Given the description of an element on the screen output the (x, y) to click on. 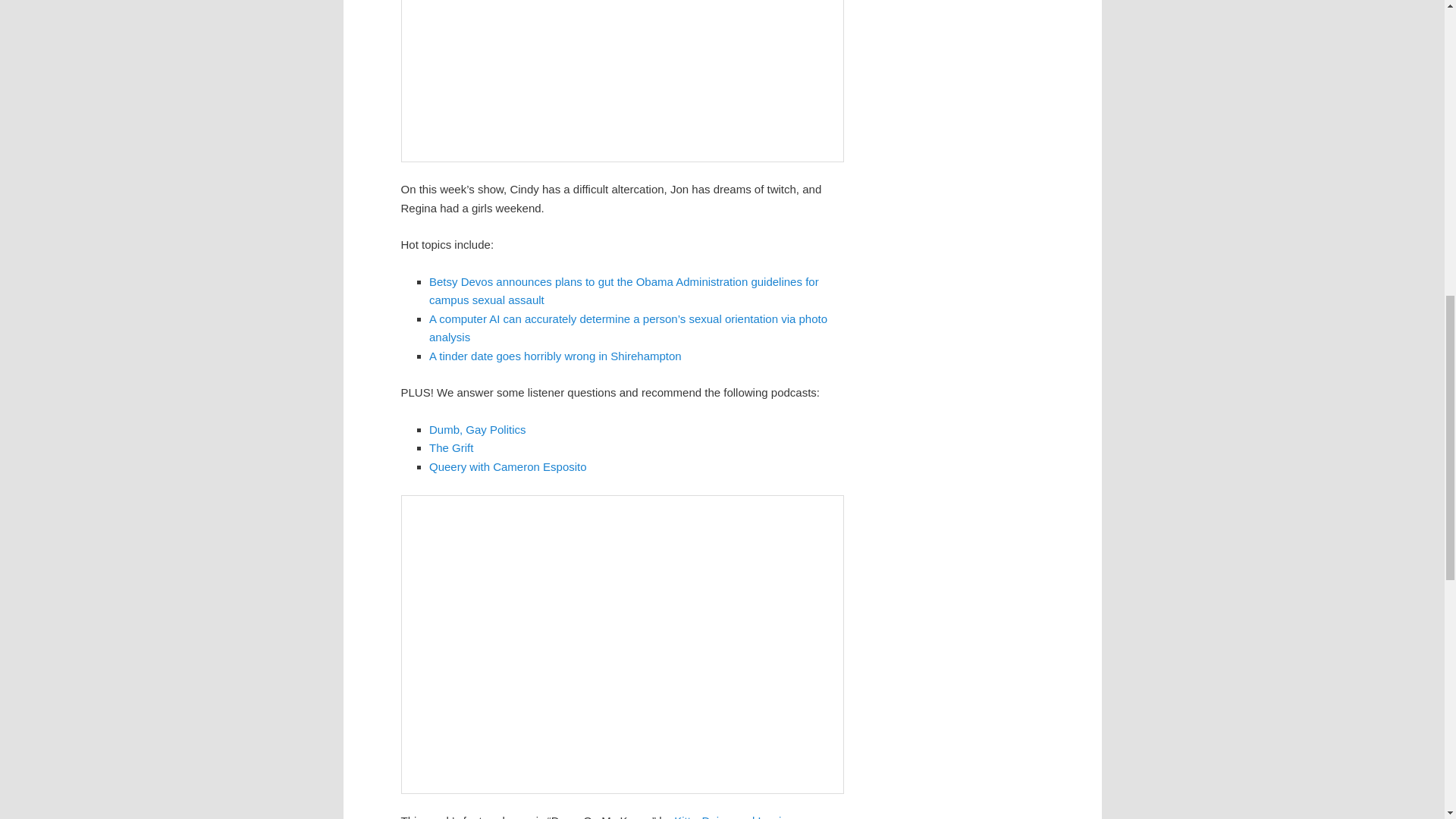
Queery with Cameron Esposito (507, 466)
The Grift (451, 447)
Kitty, Daisy, and Lewis. (730, 816)
A tinder date goes horribly wrong in Shirehampton (555, 355)
Dumb, Gay Politics (477, 429)
